Given the description of an element on the screen output the (x, y) to click on. 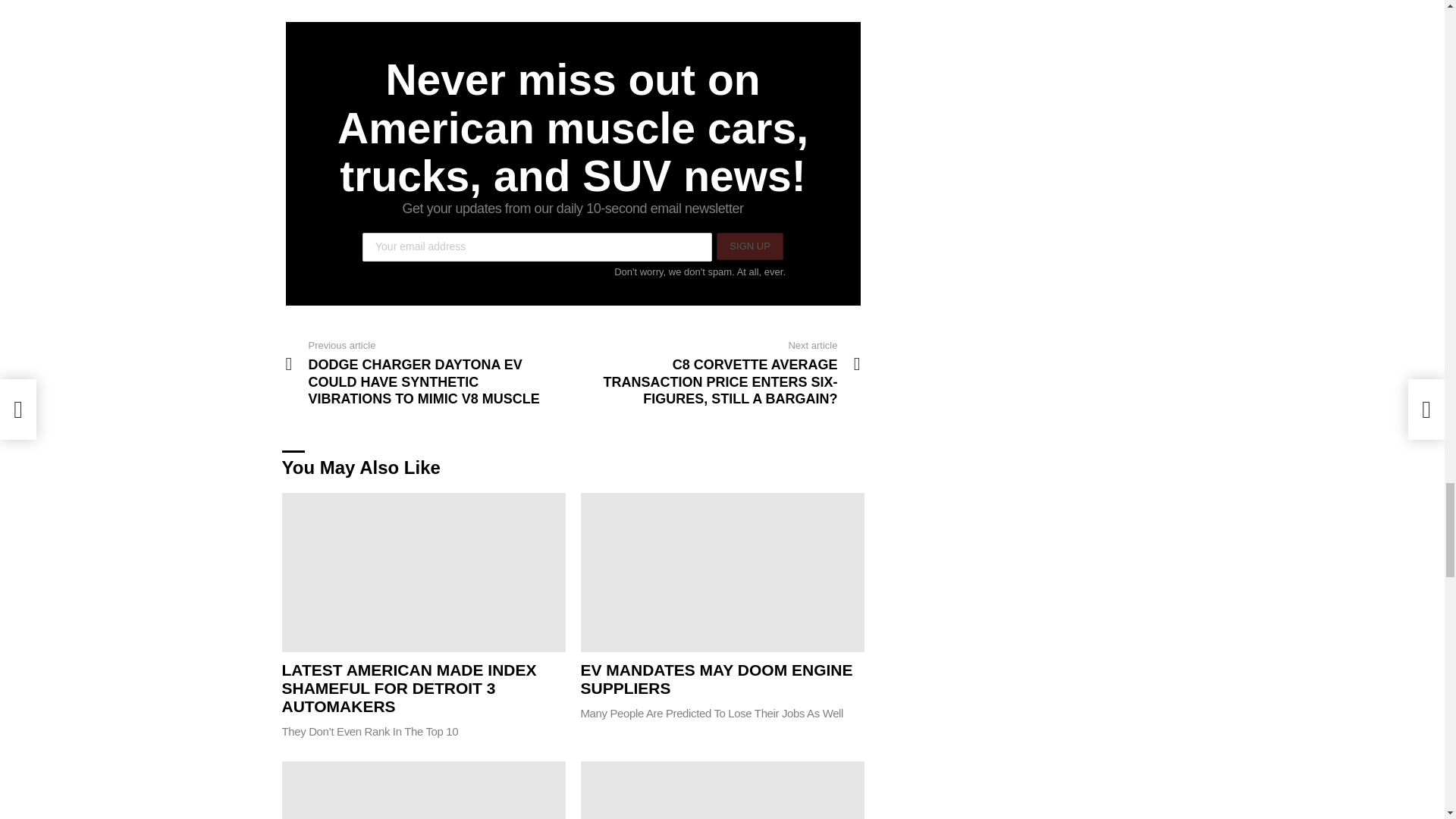
Sign up (749, 246)
